Given the description of an element on the screen output the (x, y) to click on. 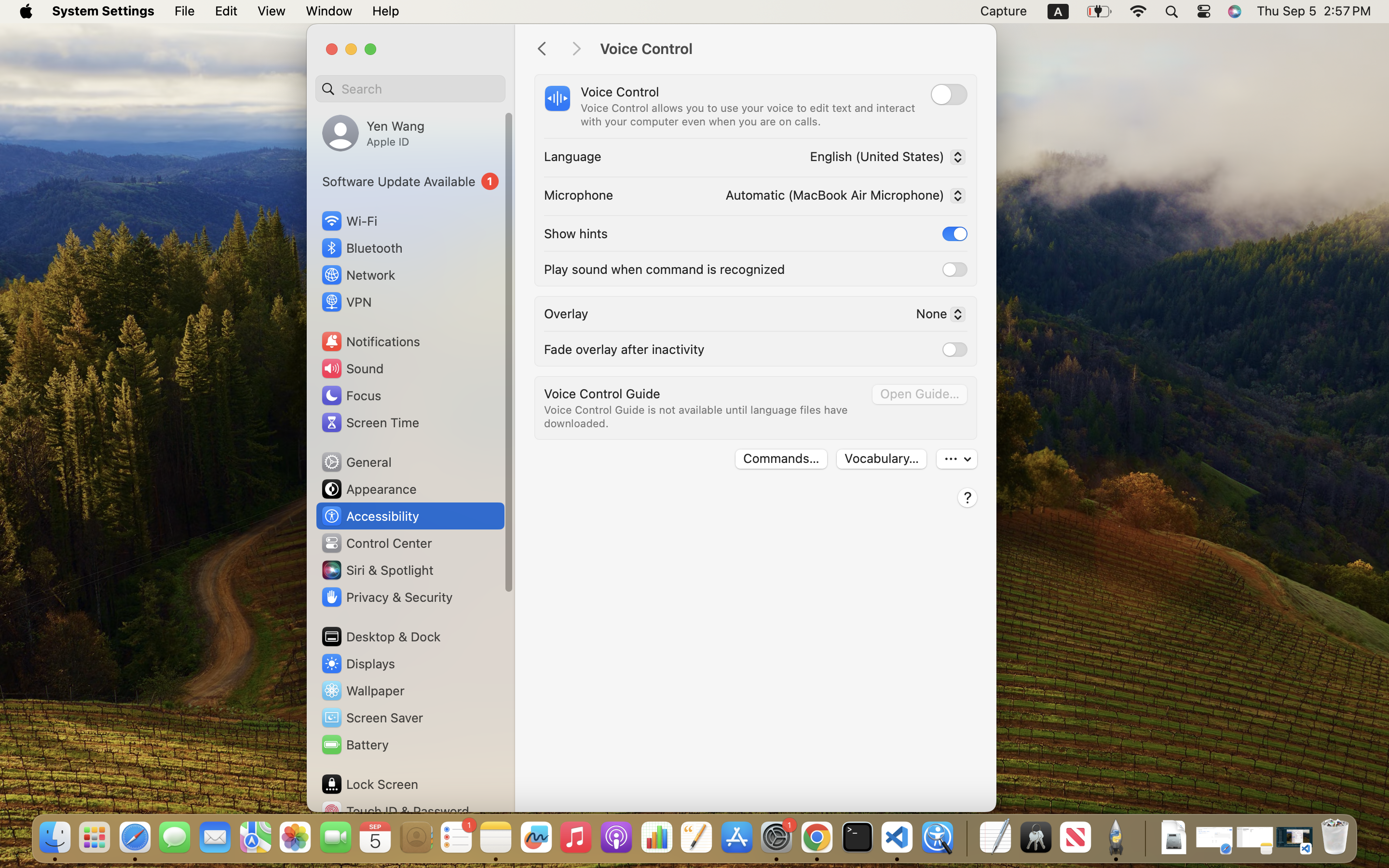
Show hints Element type: AXStaticText (575, 233)
Notifications Element type: AXStaticText (370, 340)
Lock Screen Element type: AXStaticText (369, 783)
